Given the description of an element on the screen output the (x, y) to click on. 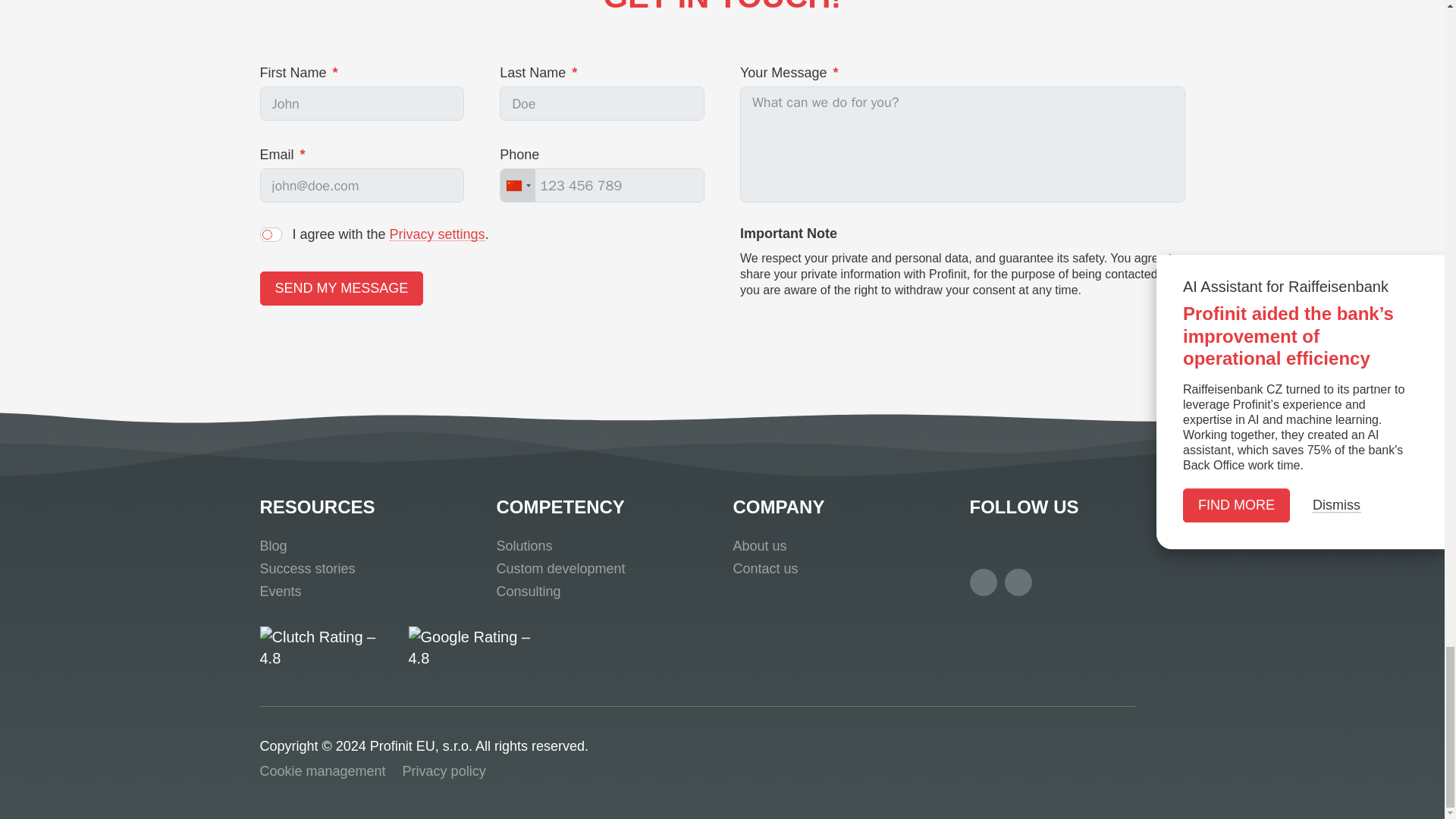
Twitter (982, 582)
Events (280, 590)
SEND MY MESSAGE (341, 288)
Success stories (307, 568)
Blog (272, 545)
LinkedIn (1017, 582)
Privacy settings (437, 233)
Solutions (523, 545)
